Given the description of an element on the screen output the (x, y) to click on. 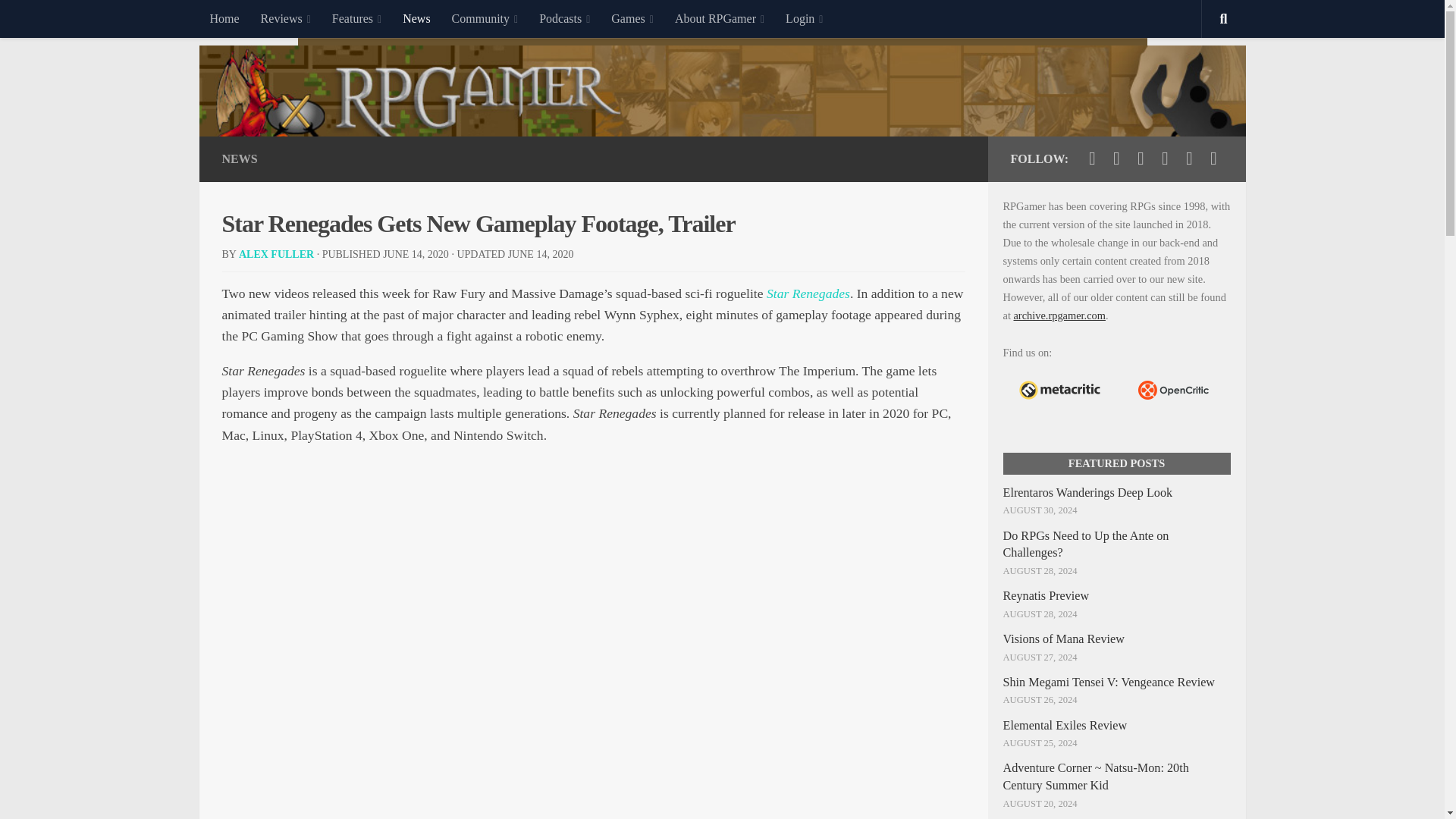
Follow us on Youtube (1140, 158)
Follow us on Discord (1188, 158)
Posts by Alex Fuller (276, 254)
Follow us on Twitch (1164, 158)
Follow us on Twitter (1091, 158)
Follow us on Rss (1213, 158)
Skip to content (59, 20)
Follow us on Facebook (1115, 158)
